Given the description of an element on the screen output the (x, y) to click on. 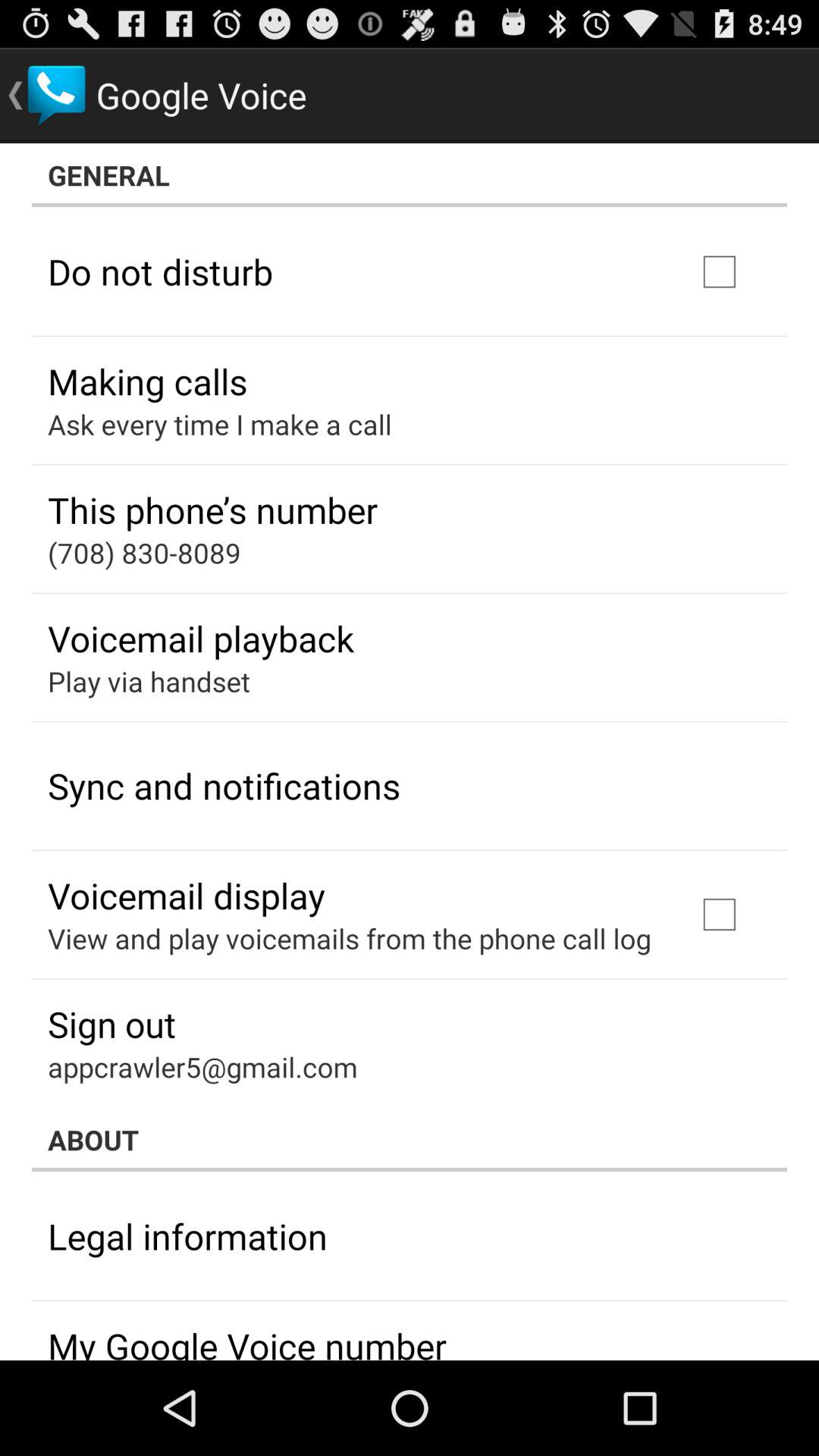
tap app below the play via handset (223, 785)
